Given the description of an element on the screen output the (x, y) to click on. 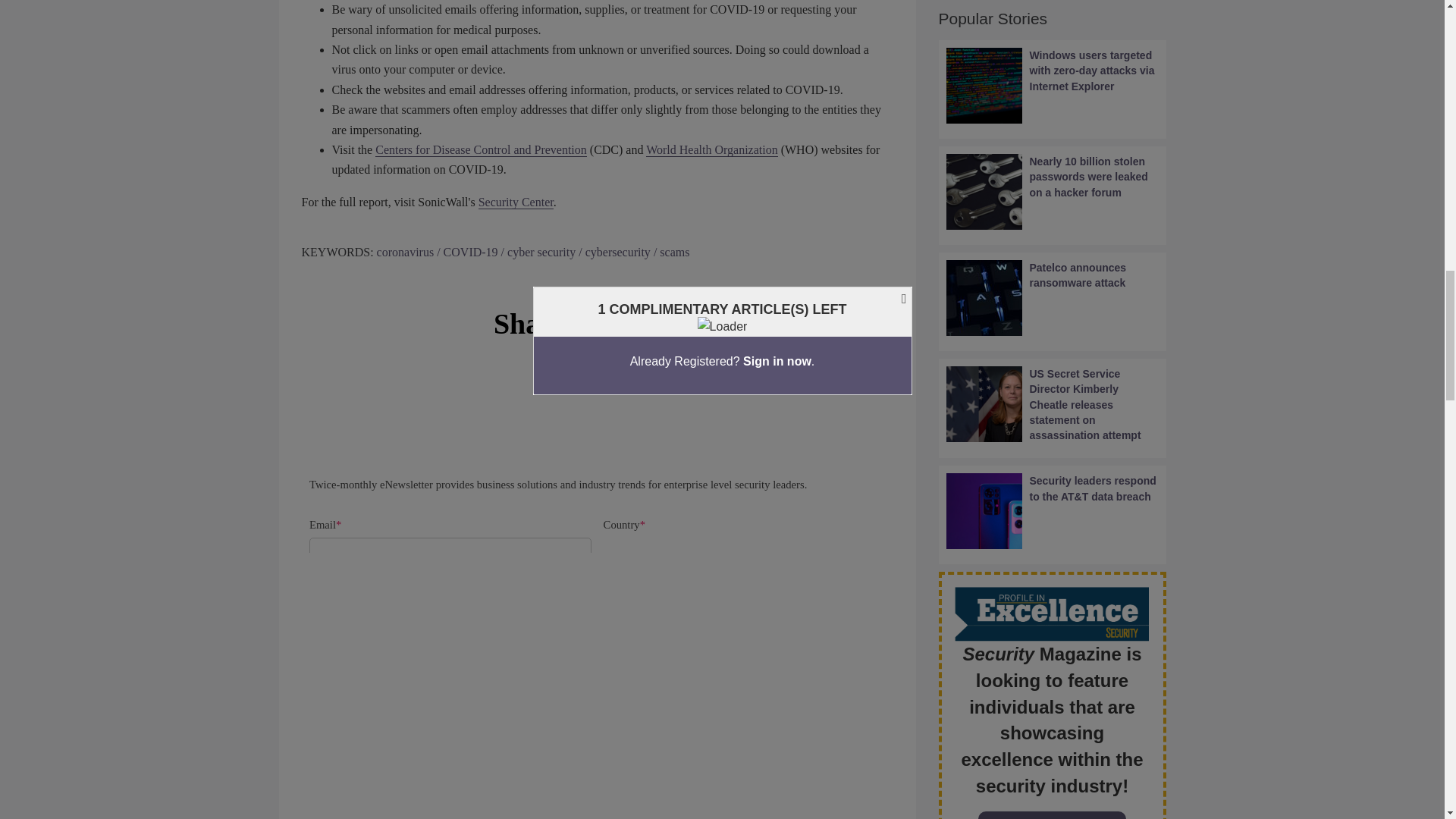
Patelco announces ransomware attack (1052, 297)
Interaction questions (597, 495)
